Given the description of an element on the screen output the (x, y) to click on. 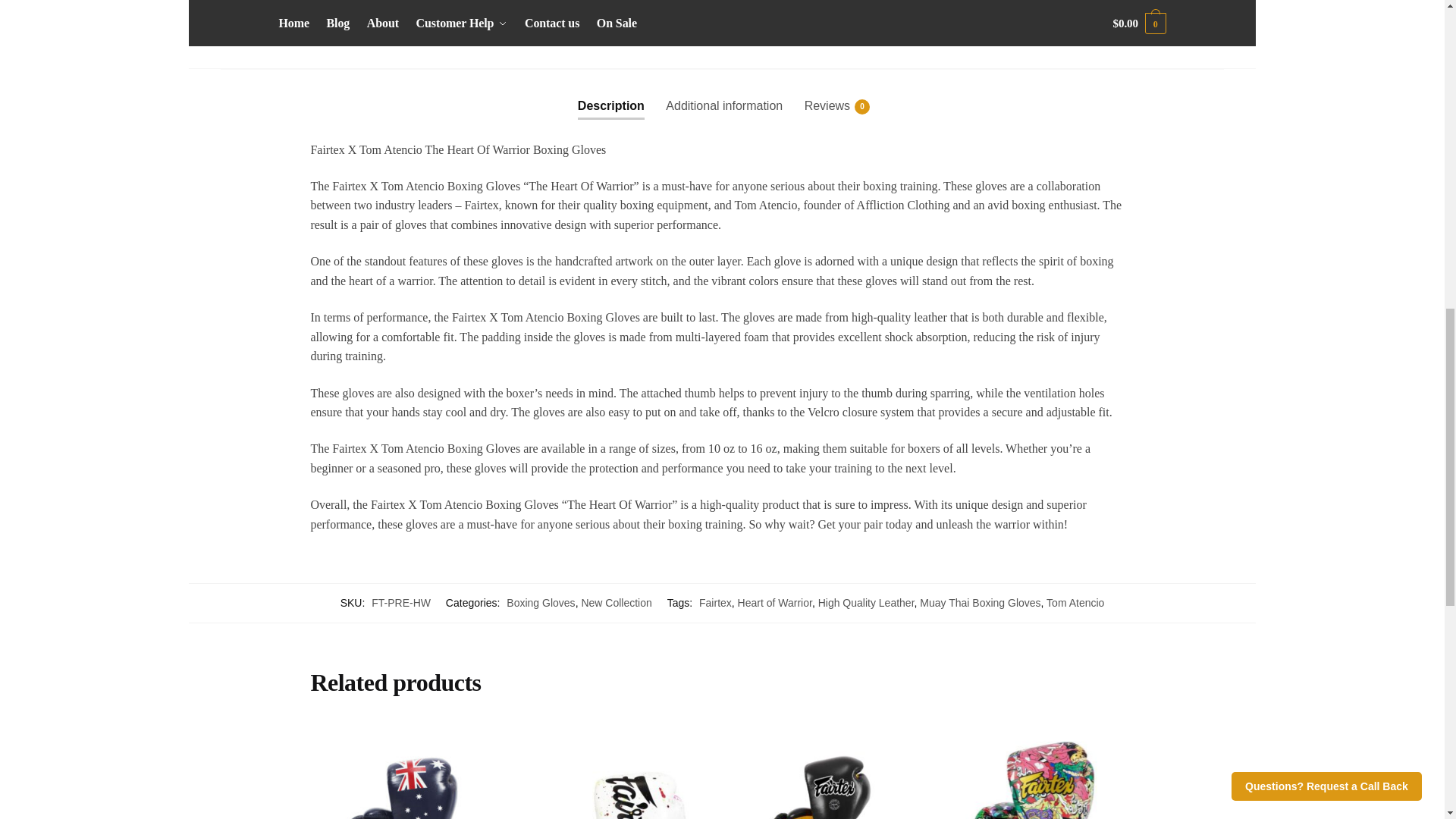
Fairtex X Tom Atencio Heart of Warrior Boxing Gloves Bag (746, 22)
Fairtex X Tom Atencio Heart of Warrior Boxing Gloves Bag (369, 22)
Fairtex X Tom Atencio Heart of Warrior Boxing Gloves Bag (619, 22)
Fairtex X Tom Atencio Heart of Warrior Boxing Gloves Bag (494, 22)
